Given the description of an element on the screen output the (x, y) to click on. 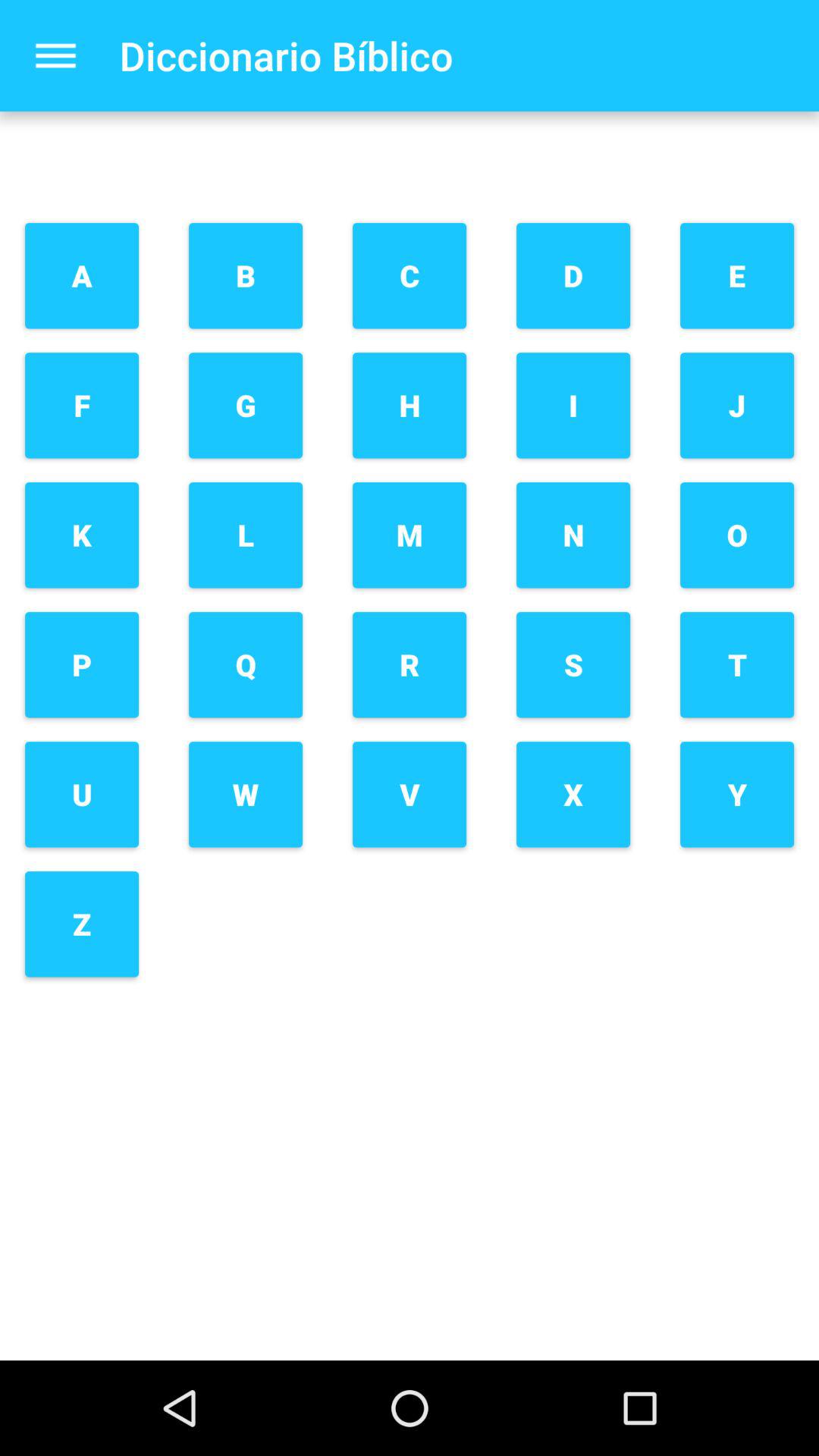
turn off the button below the l button (245, 664)
